Given the description of an element on the screen output the (x, y) to click on. 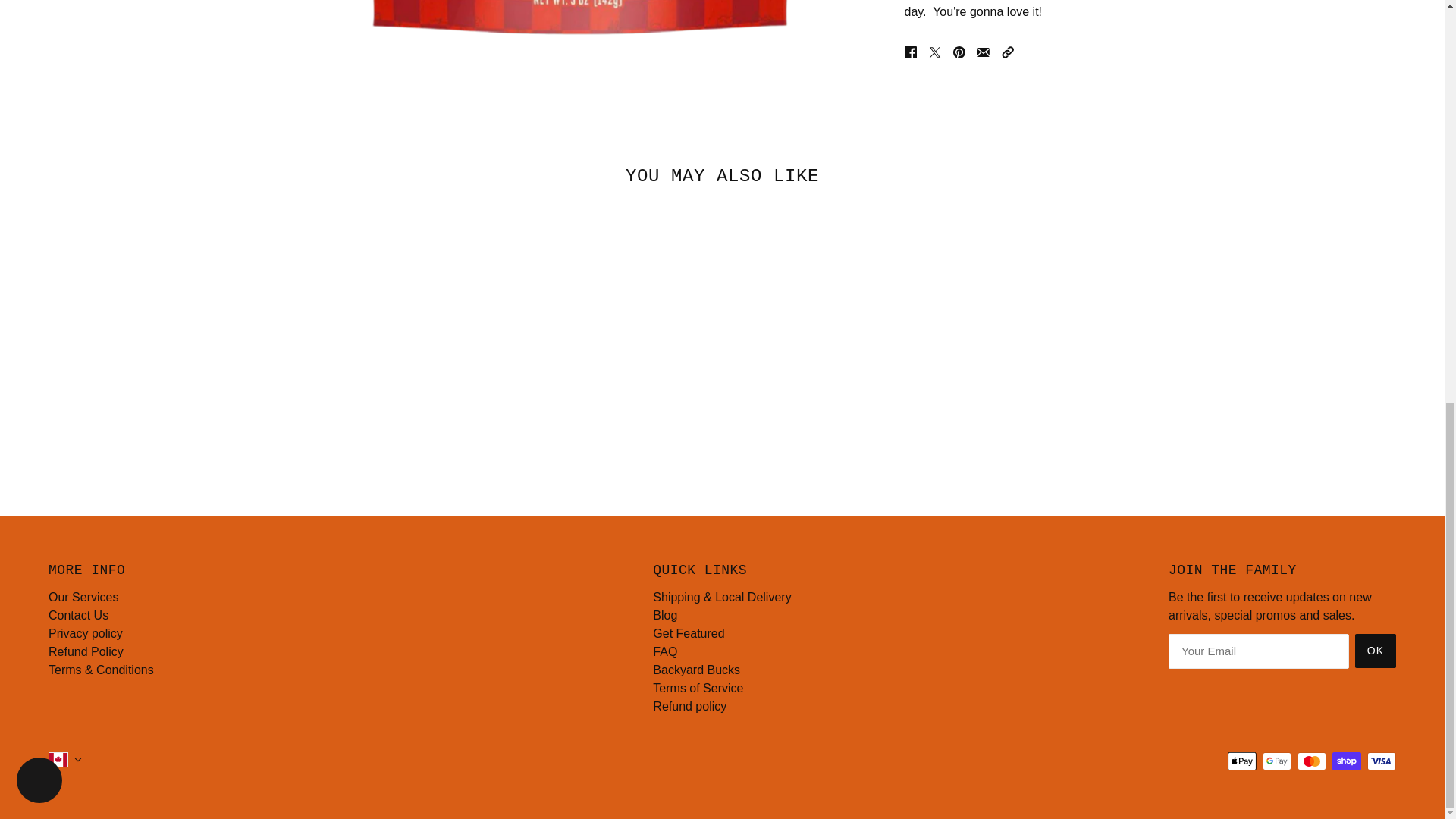
Refund policy (689, 706)
Terms of Service (697, 687)
Get Featured (687, 633)
Backyard Bucks (695, 669)
Contact Us (77, 615)
Blog (664, 615)
Refund Policy (85, 651)
Shopify online store chat (38, 7)
Privacy policy (85, 633)
FAQ (664, 651)
